Given the description of an element on the screen output the (x, y) to click on. 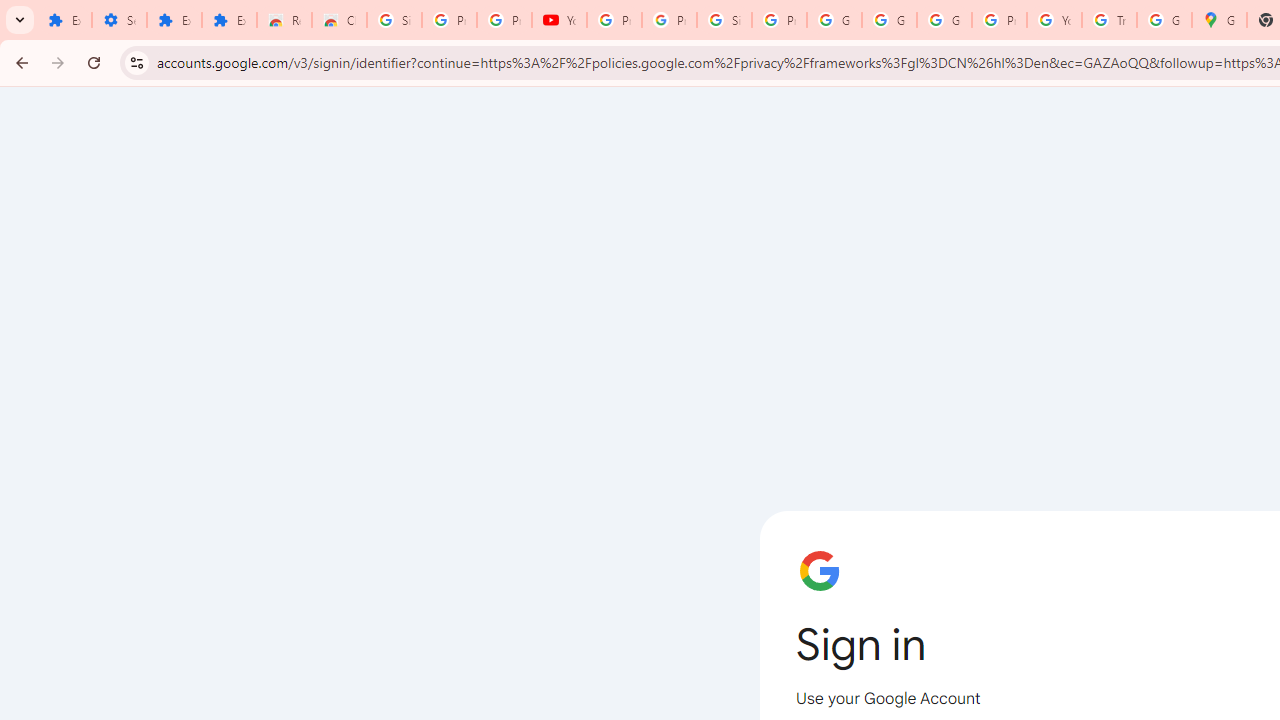
Reviews: Helix Fruit Jump Arcade Game (284, 20)
Extensions (64, 20)
Google Maps (1218, 20)
Settings (119, 20)
Extensions (174, 20)
YouTube (1053, 20)
Sign in - Google Accounts (724, 20)
YouTube (559, 20)
Extensions (229, 20)
